Given the description of an element on the screen output the (x, y) to click on. 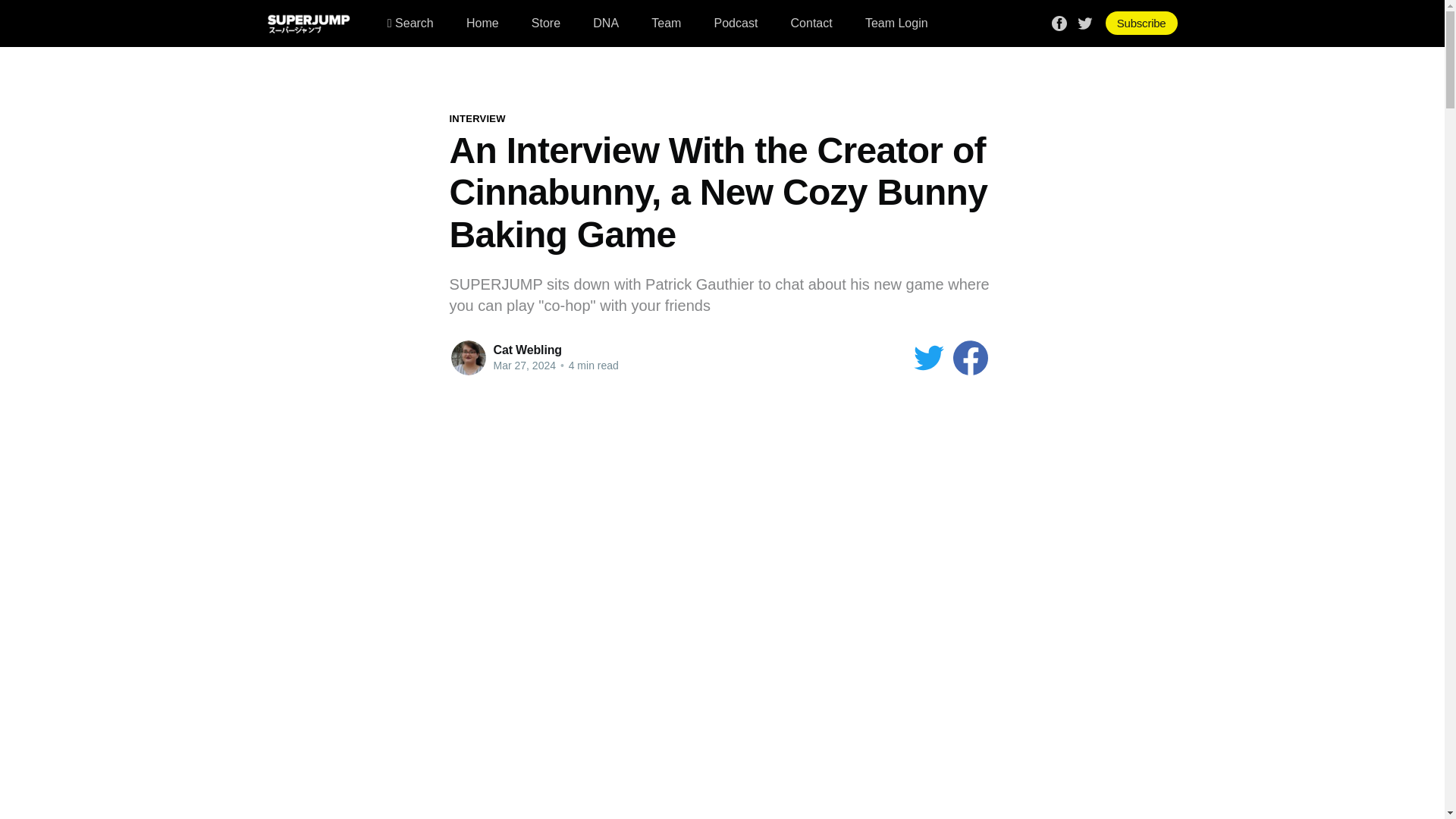
Home (482, 22)
Podcast (736, 22)
Twitter (1085, 21)
Contact (811, 22)
Facebook (1059, 21)
Team (665, 22)
DNA (605, 22)
Subscribe (1141, 23)
Store (545, 22)
Cat Webling (526, 349)
